Given the description of an element on the screen output the (x, y) to click on. 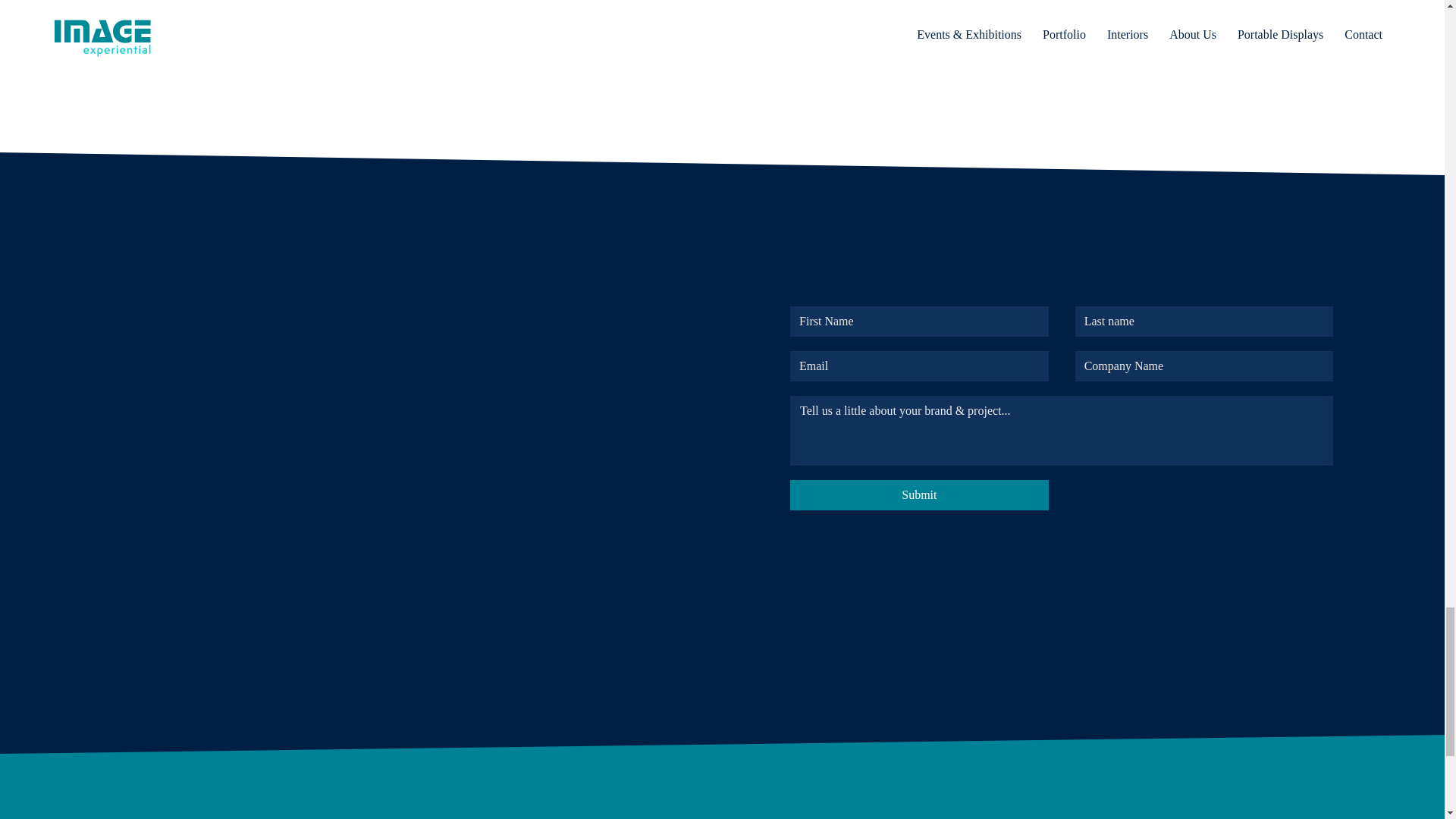
Submit (919, 494)
